Given the description of an element on the screen output the (x, y) to click on. 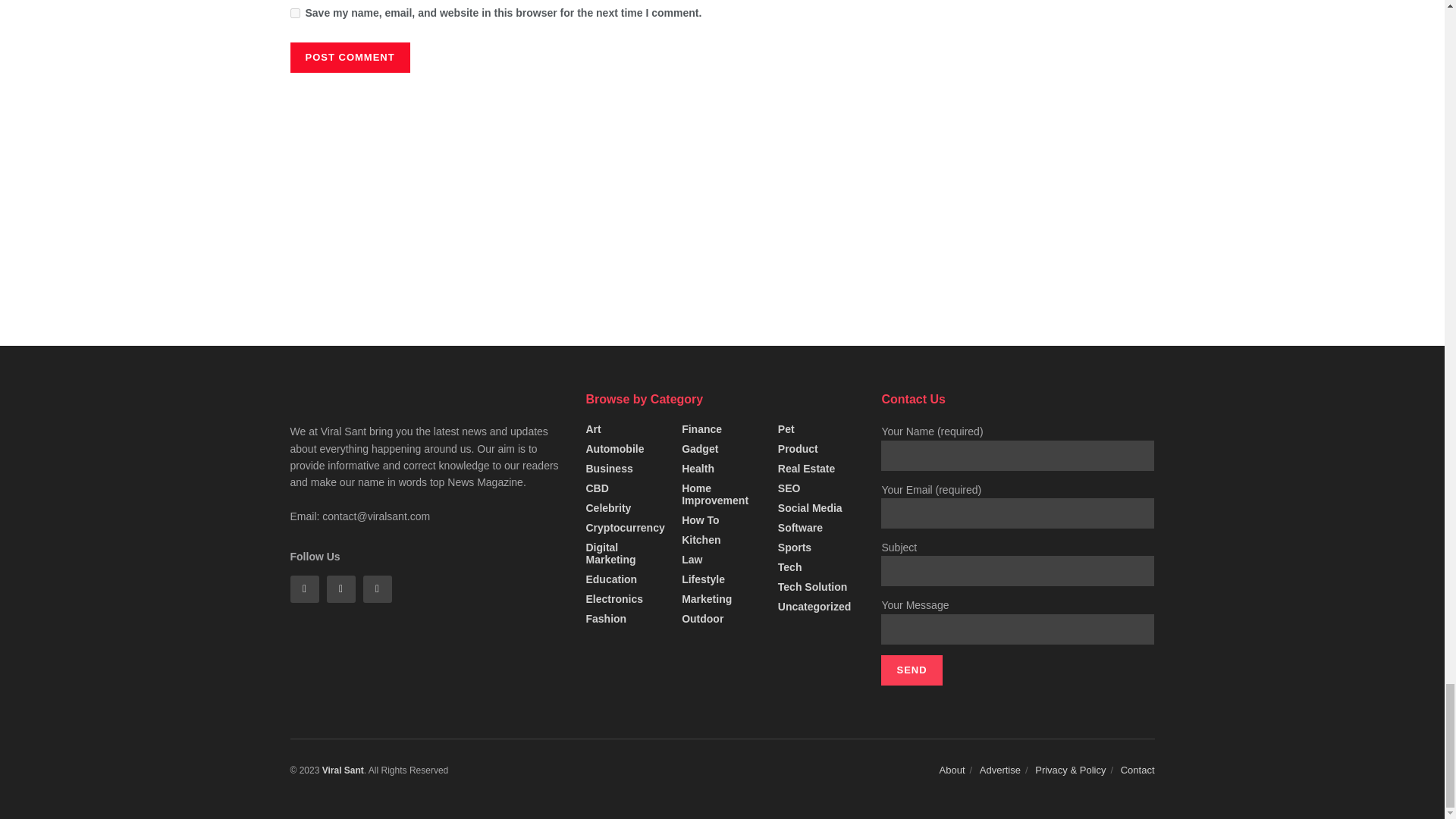
Send (911, 670)
yes (294, 13)
Post Comment (349, 57)
